Given the description of an element on the screen output the (x, y) to click on. 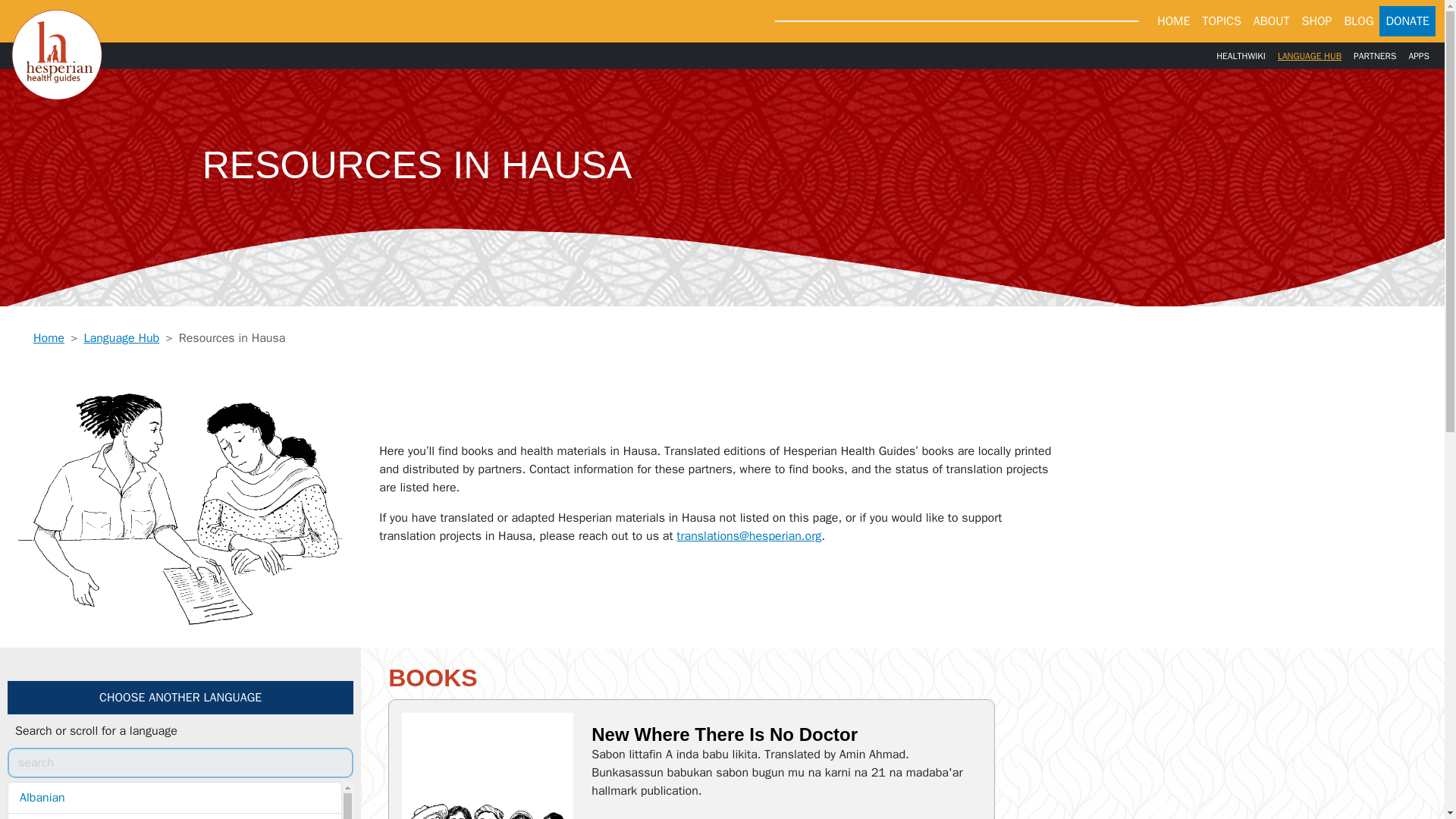
Albanian (174, 797)
TOPICS (1220, 20)
APPS (1418, 54)
LANGUAGE HUB (1309, 54)
HOME (1173, 20)
BLOG (1358, 20)
DONATE (1406, 20)
HEALTHWIKI (1240, 54)
SHOP (1316, 20)
Home (48, 337)
